Given the description of an element on the screen output the (x, y) to click on. 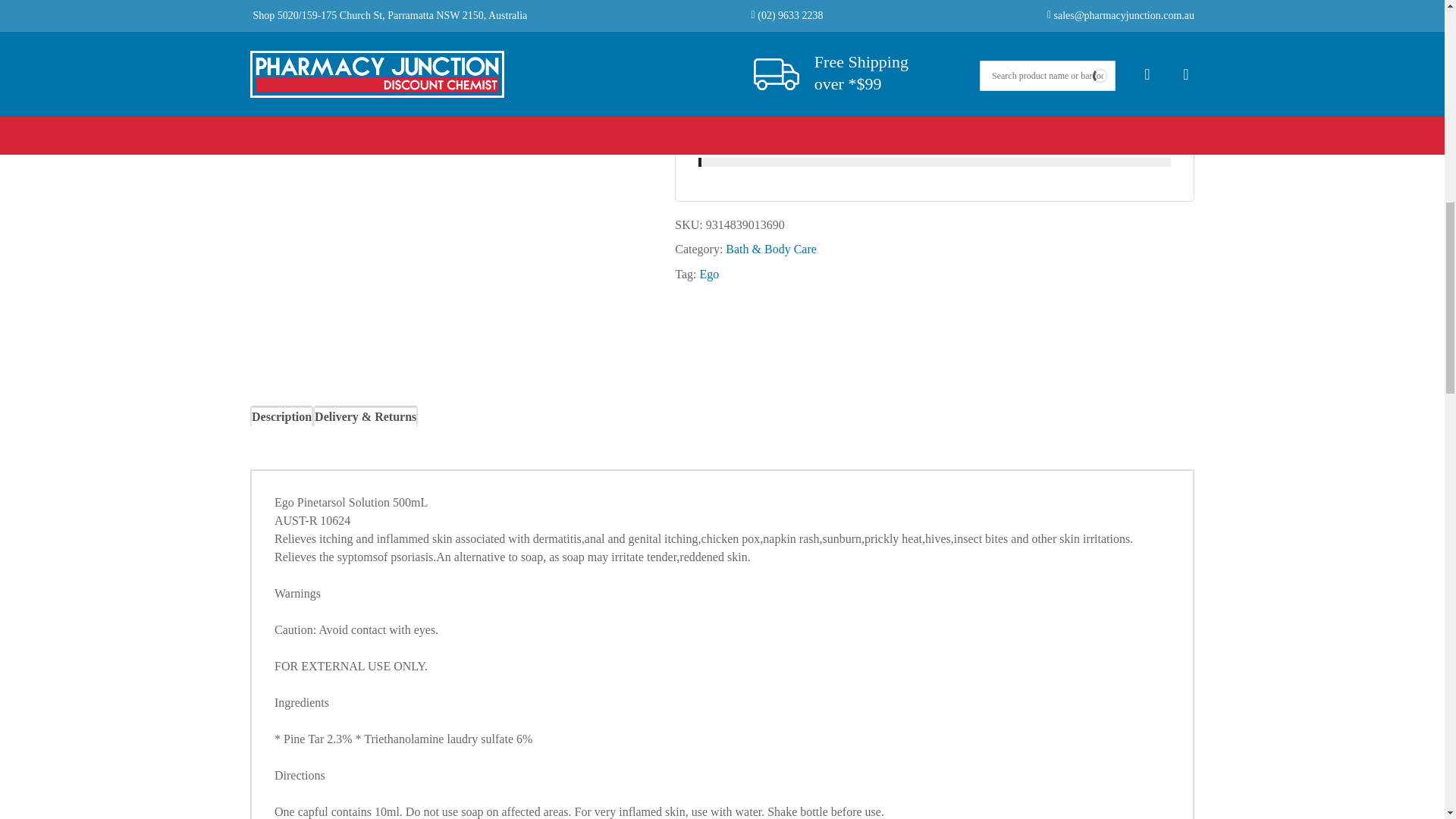
24922 (709, 117)
23626 (709, 4)
25612 (709, 61)
